Given the description of an element on the screen output the (x, y) to click on. 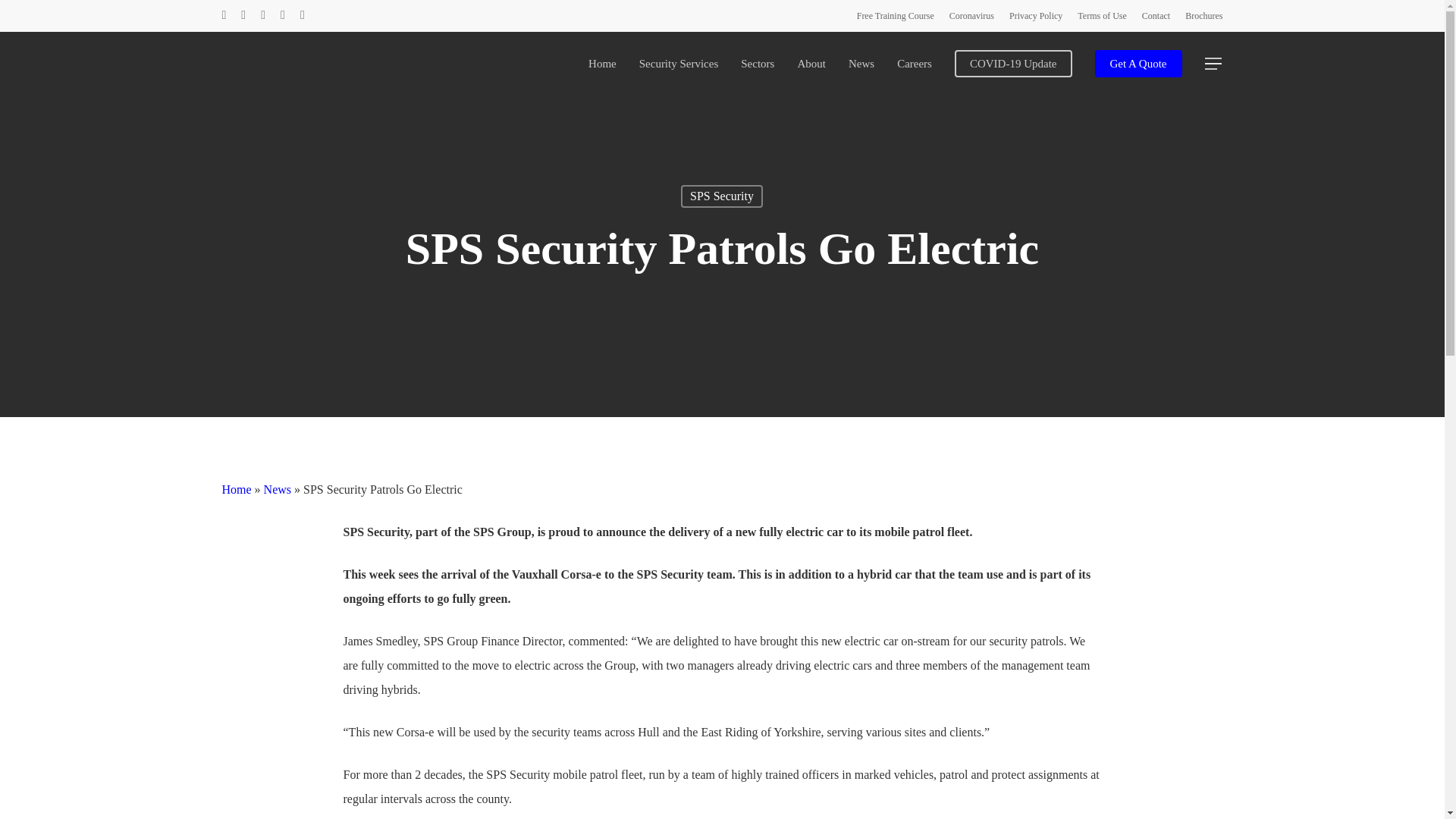
Free Training Course (895, 15)
Careers (913, 62)
Get A Quote (1138, 62)
SPS Security (721, 196)
linkedin (262, 15)
email (301, 15)
facebook (243, 15)
Home (601, 62)
Security Services (679, 62)
COVID-19 Update (1013, 62)
Brochures (1204, 15)
Contact (1155, 15)
News (277, 489)
Menu (1213, 64)
phone (283, 15)
